Given the description of an element on the screen output the (x, y) to click on. 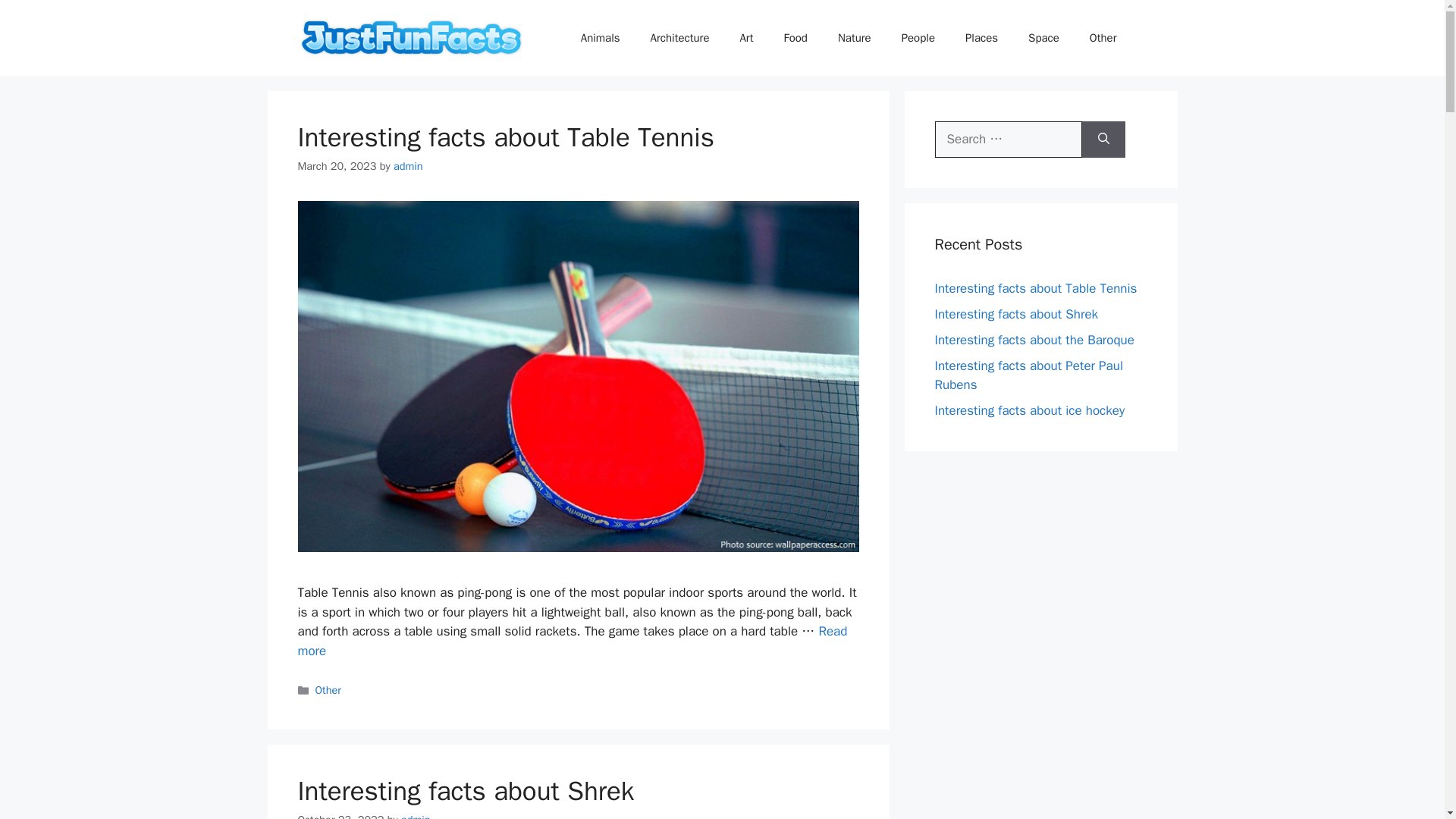
Nature (854, 37)
Other (1103, 37)
Food (795, 37)
Animals (600, 37)
admin (408, 165)
Interesting facts about Table Tennis (505, 136)
View all posts by admin (408, 165)
admin (415, 816)
Other (327, 689)
Places (981, 37)
